Given the description of an element on the screen output the (x, y) to click on. 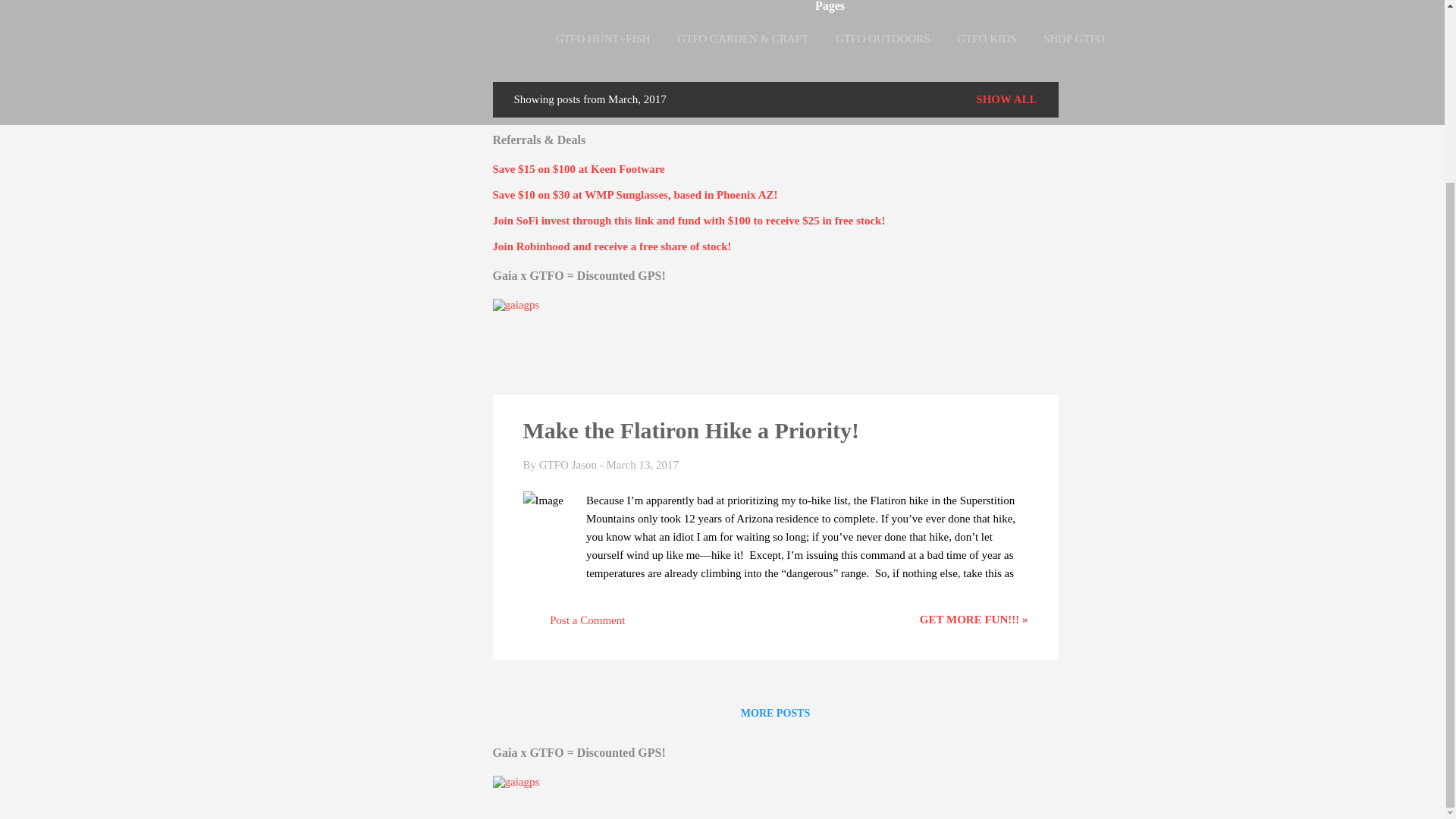
GTFO OUTDOORS (882, 38)
MORE POSTS (775, 713)
GEAR TO GTFO (829, 70)
More posts (775, 713)
Post a Comment (574, 625)
permanent link (642, 464)
March 13, 2017 (642, 464)
SHOP GTFO (1073, 38)
Join Robinhood and receive a free share of stock! (612, 246)
Make the Flatiron Hike a Priority! (691, 430)
